Given the description of an element on the screen output the (x, y) to click on. 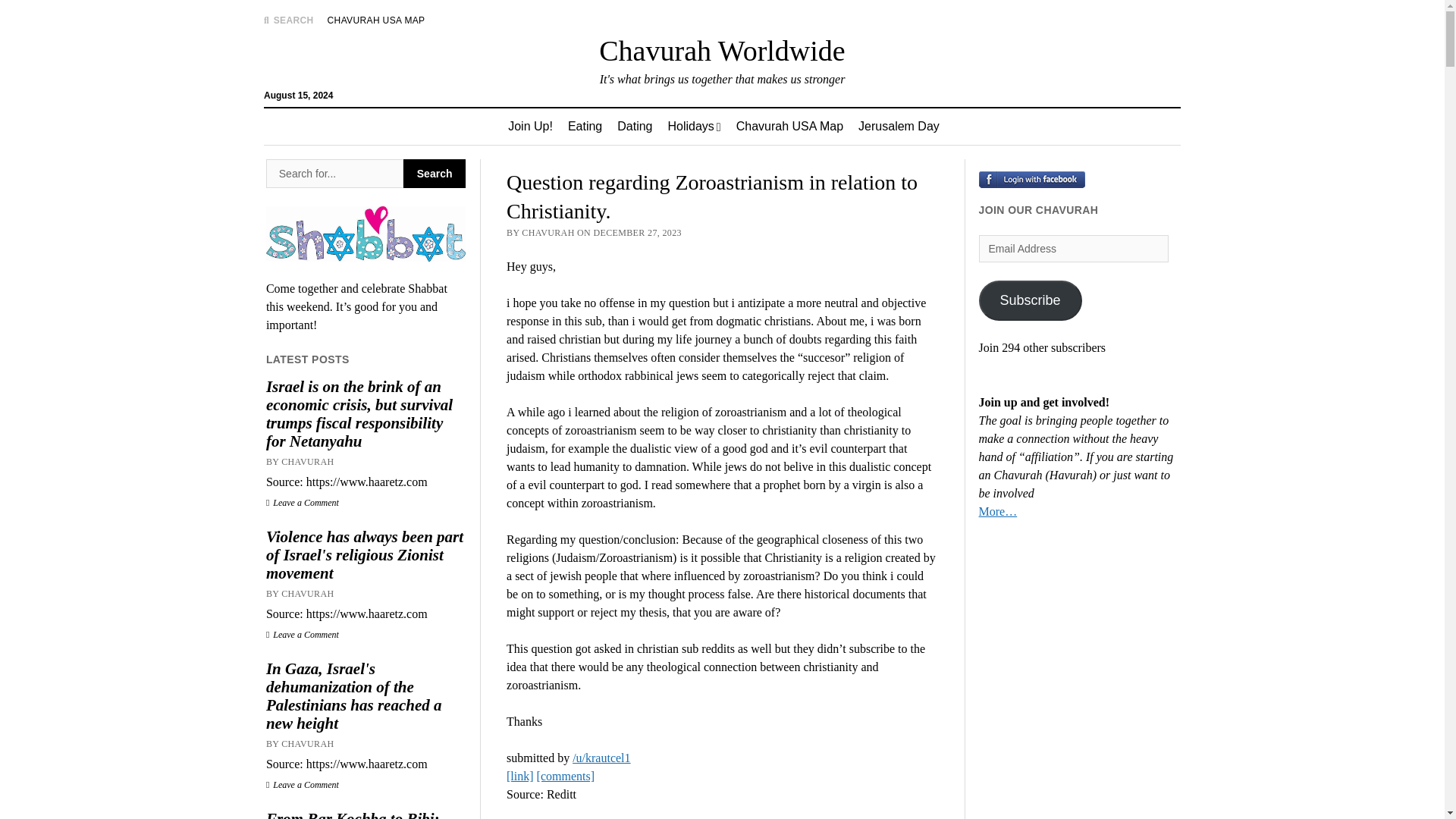
Holidays (693, 126)
Jerusalem Day (898, 126)
Dating (634, 126)
SEARCH (288, 20)
Chavurah USA Map (788, 126)
Leave a Comment (302, 634)
Search (334, 173)
Search (945, 129)
